Given the description of an element on the screen output the (x, y) to click on. 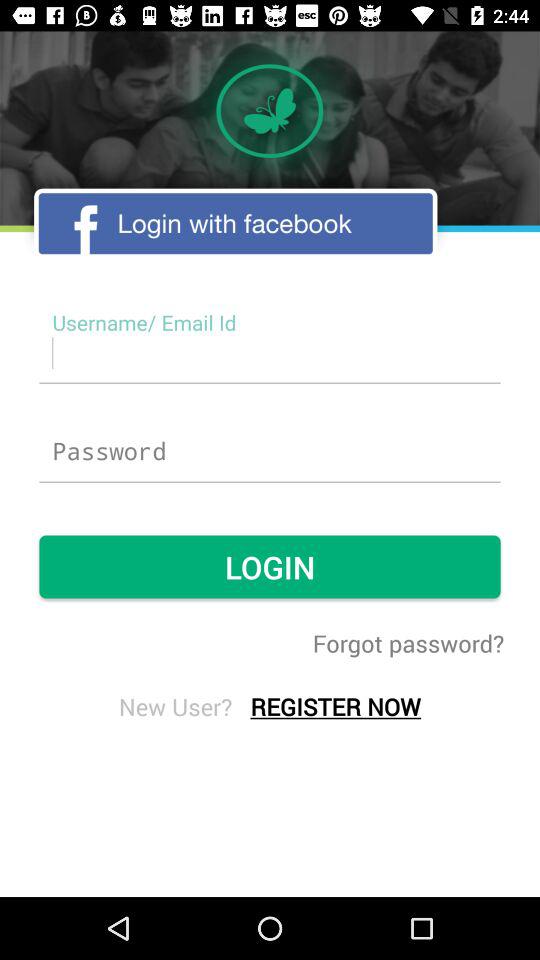
password (269, 451)
